Given the description of an element on the screen output the (x, y) to click on. 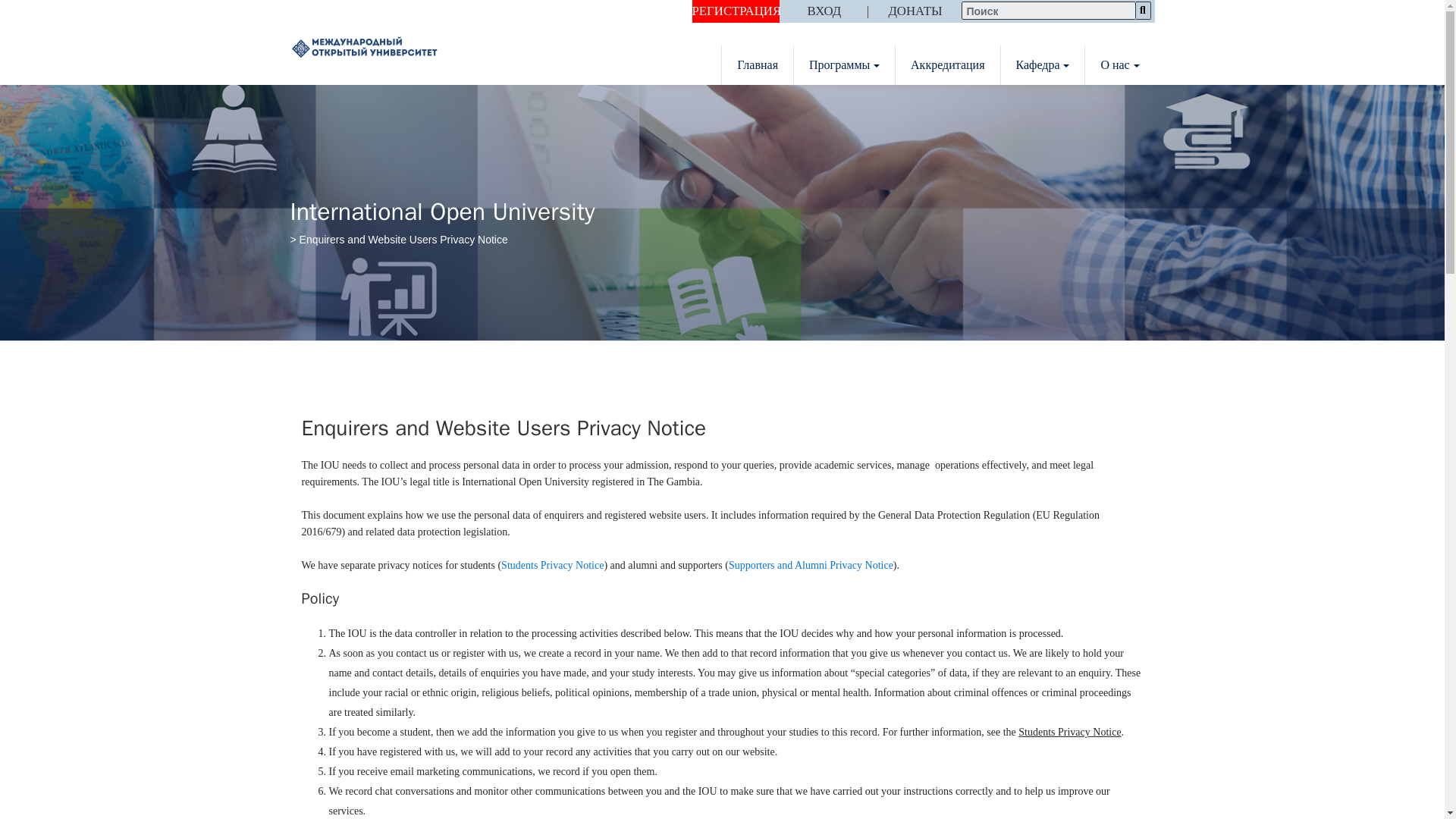
Supporters and Alumni Privacy Notice (811, 564)
Students Privacy Notice (552, 564)
